Given the description of an element on the screen output the (x, y) to click on. 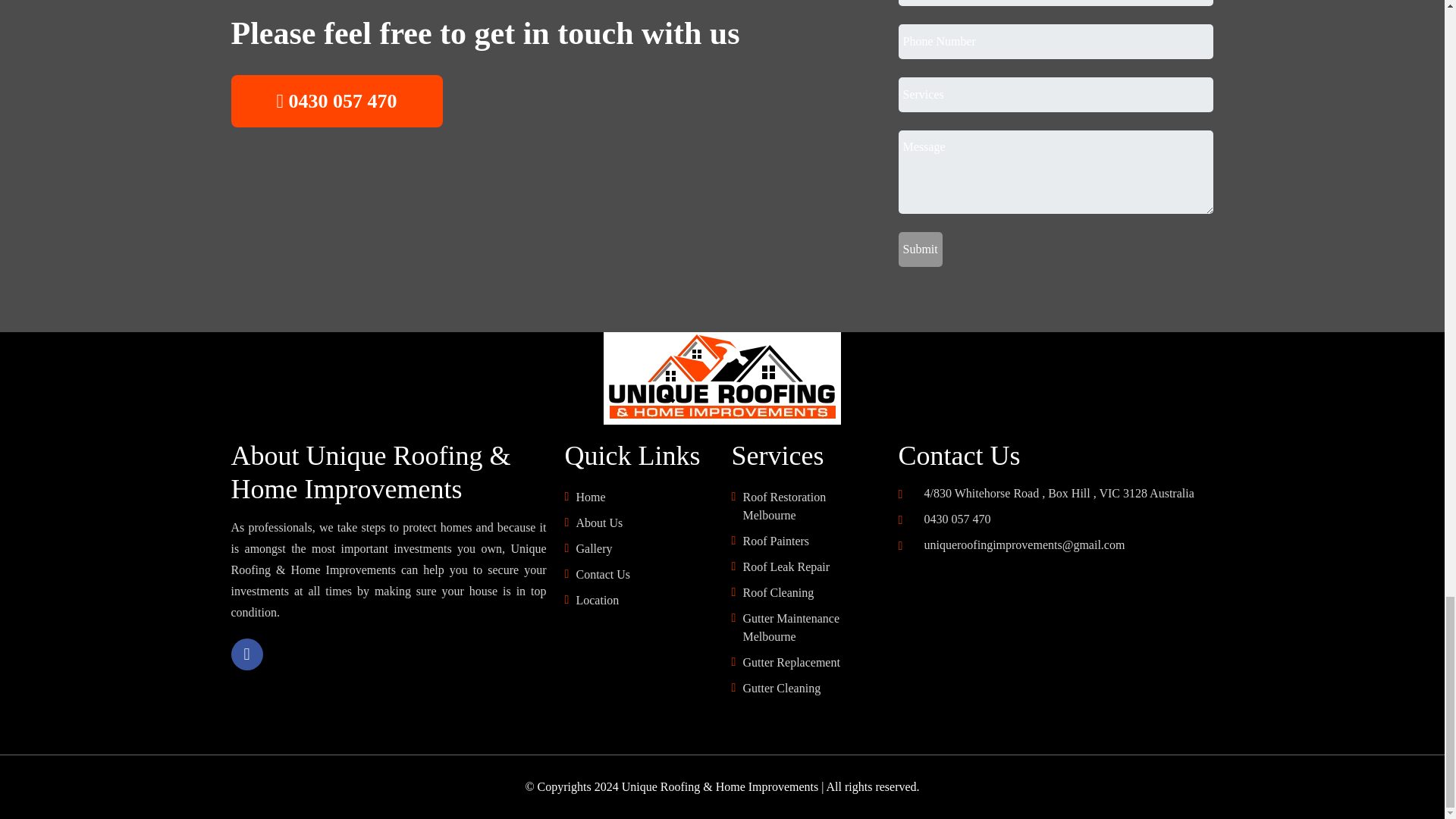
Contact Us (644, 574)
Location (644, 600)
Gutter Maintenance Melbourne (810, 627)
Gallery (644, 548)
Gutter Replacement (810, 662)
Roof Restoration Melbourne (810, 506)
Roof Painters (810, 541)
Submit (920, 248)
About Us (644, 523)
0430 057 470 (951, 519)
